Given the description of an element on the screen output the (x, y) to click on. 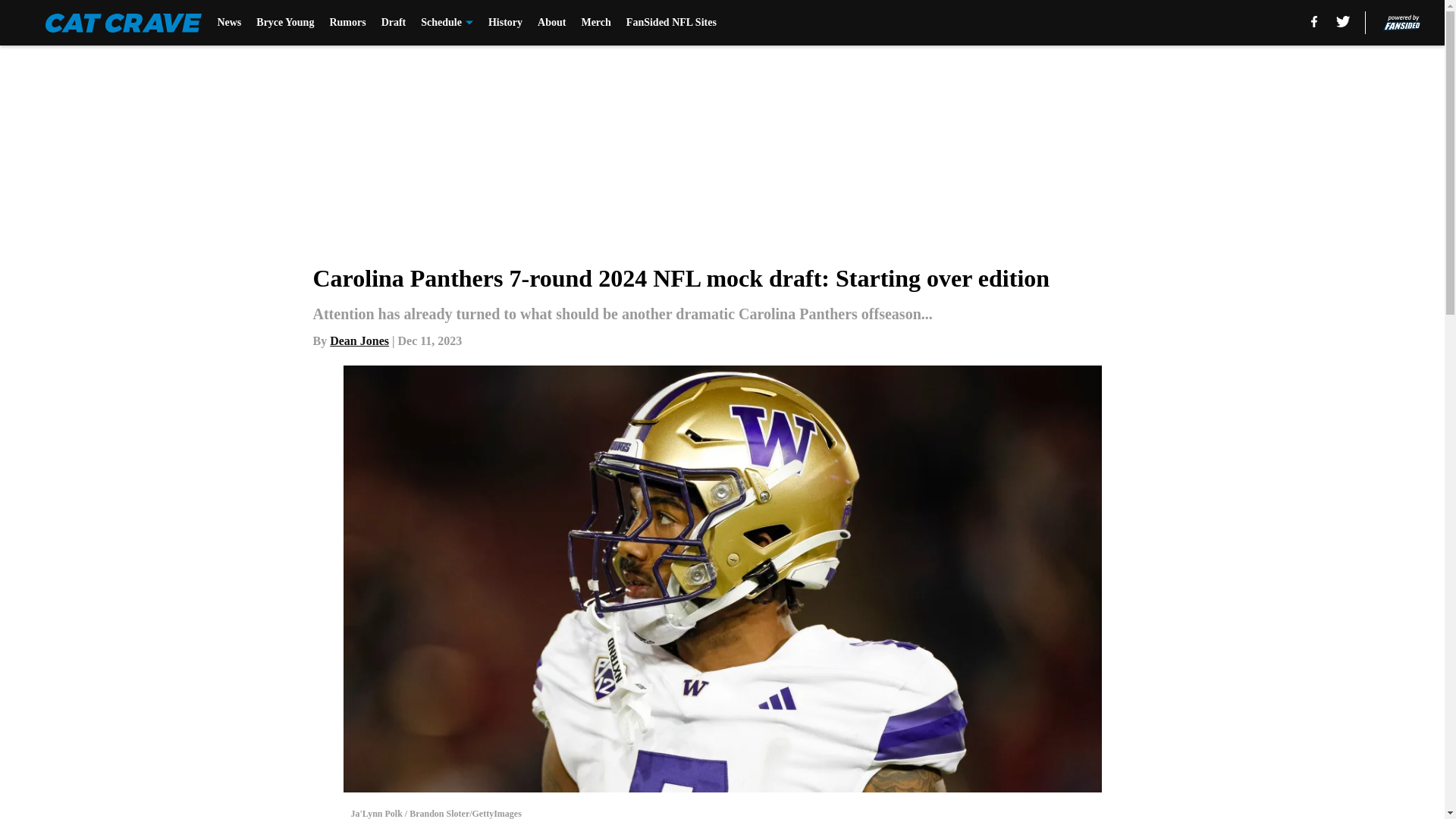
Bryce Young (285, 22)
News (228, 22)
FanSided NFL Sites (671, 22)
Merch (595, 22)
About (551, 22)
Dean Jones (359, 340)
Rumors (347, 22)
Draft (393, 22)
History (504, 22)
